Given the description of an element on the screen output the (x, y) to click on. 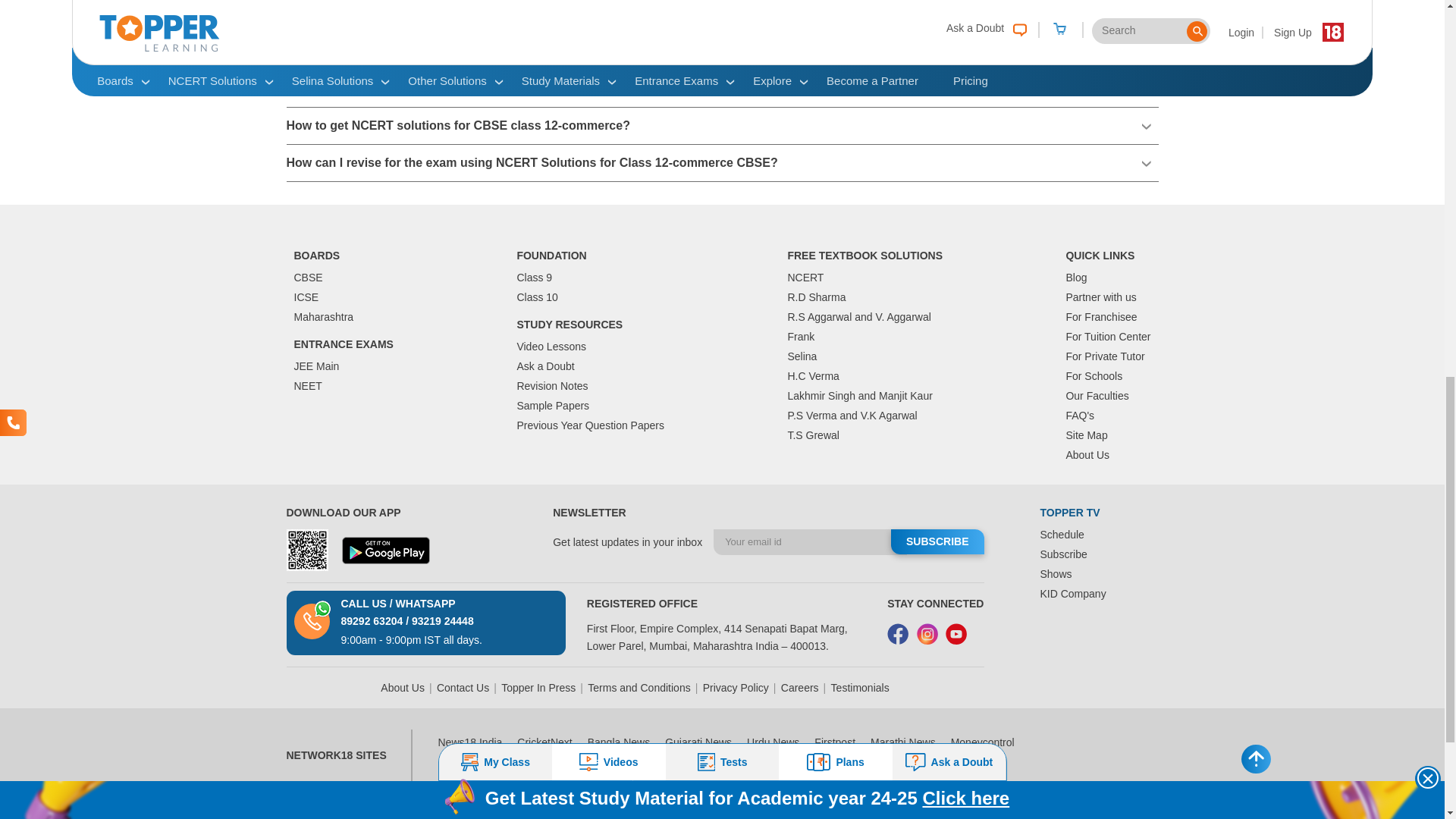
Googleplay (385, 550)
News18 (564, 818)
QR Code (307, 549)
